Given the description of an element on the screen output the (x, y) to click on. 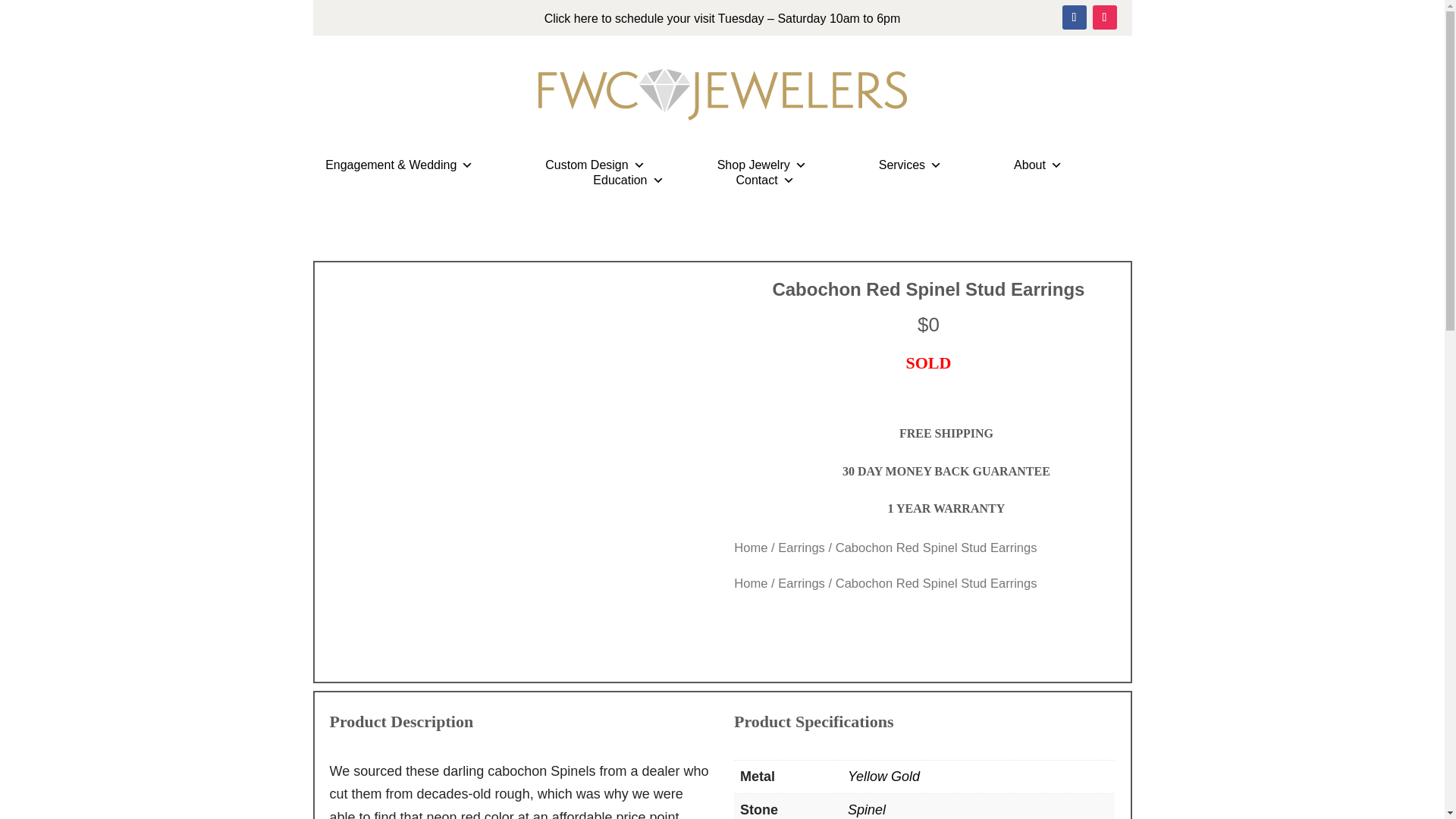
Shop Jewelry (761, 165)
About (1038, 165)
FWCJ Logo 2020 500x80px (721, 94)
Follow on Instagram (1104, 16)
Custom Design (594, 165)
Services (909, 165)
Follow on Facebook (1073, 16)
